Given the description of an element on the screen output the (x, y) to click on. 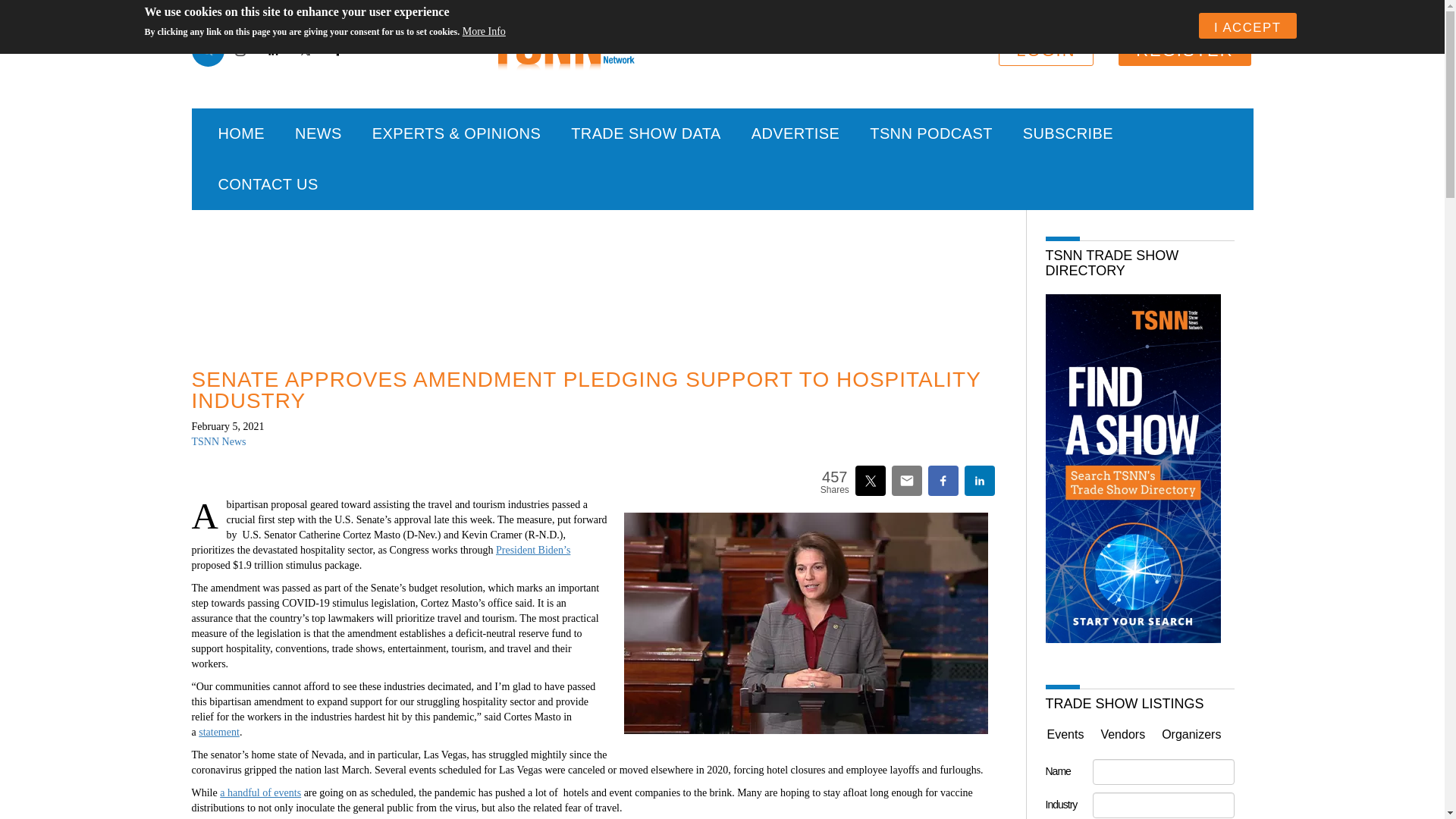
REGISTER (1184, 50)
TSNN News (218, 441)
LOGIN (1045, 50)
SUBSCRIBE (1067, 133)
statement (219, 731)
CONTACT US (268, 183)
ADVERTISE (796, 133)
I ACCEPT (1246, 25)
3rd party ad content (597, 274)
TRADE SHOW DATA (645, 133)
More Info (484, 31)
TSNN PODCAST (930, 133)
HOME (242, 133)
a handful of events (260, 792)
